Given the description of an element on the screen output the (x, y) to click on. 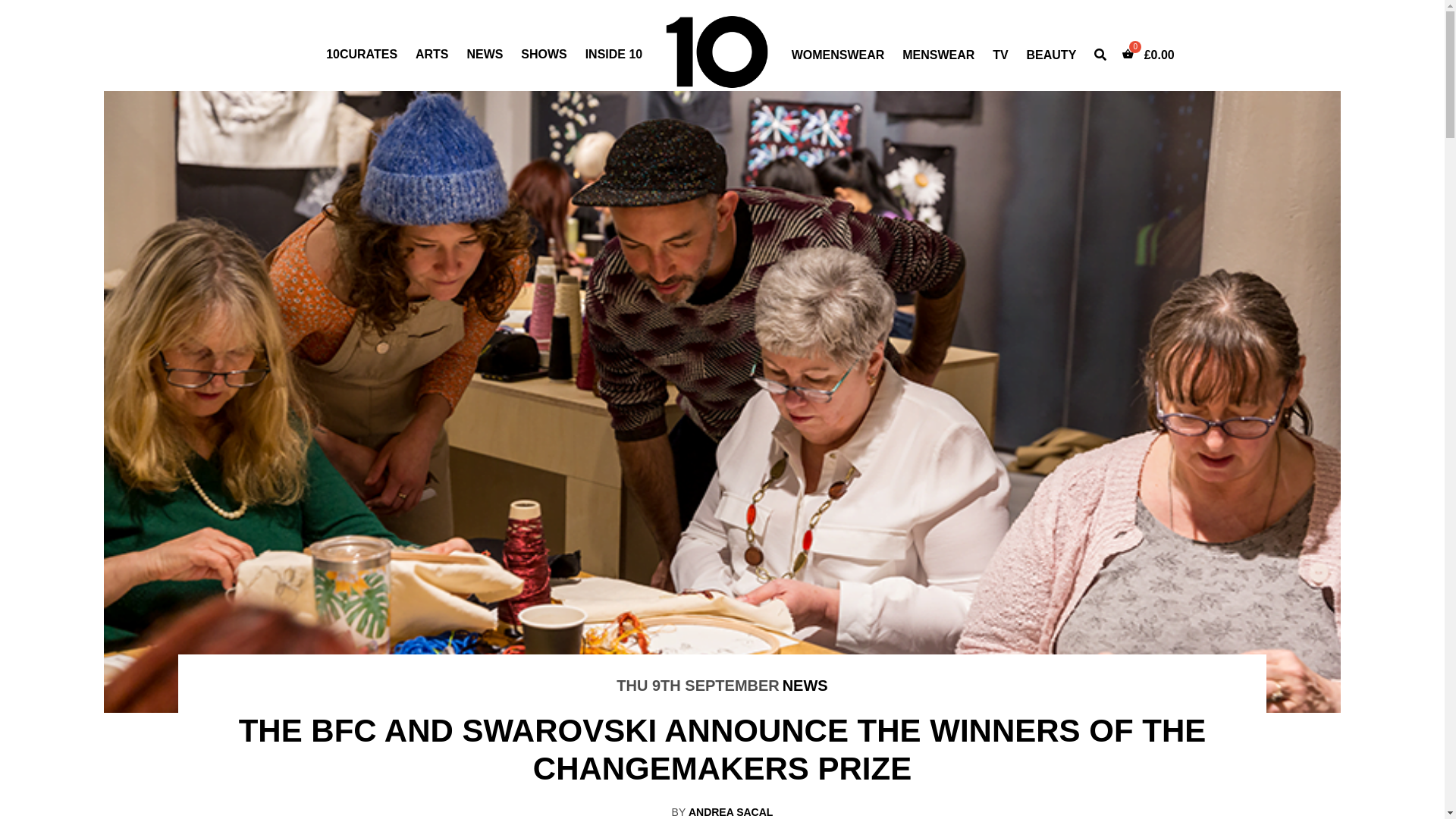
MENSWEAR Element type: text (938, 54)
WOMENSWEAR Element type: text (837, 54)
SHOWS Element type: text (543, 53)
TV Element type: text (999, 54)
ANDREA SACAL Element type: text (730, 812)
BEAUTY Element type: text (1051, 54)
NEWS Element type: text (805, 685)
ARTS Element type: text (431, 53)
INSIDE 10 Element type: text (614, 53)
NEWS Element type: text (484, 53)
10CURATES Element type: text (361, 53)
